Given the description of an element on the screen output the (x, y) to click on. 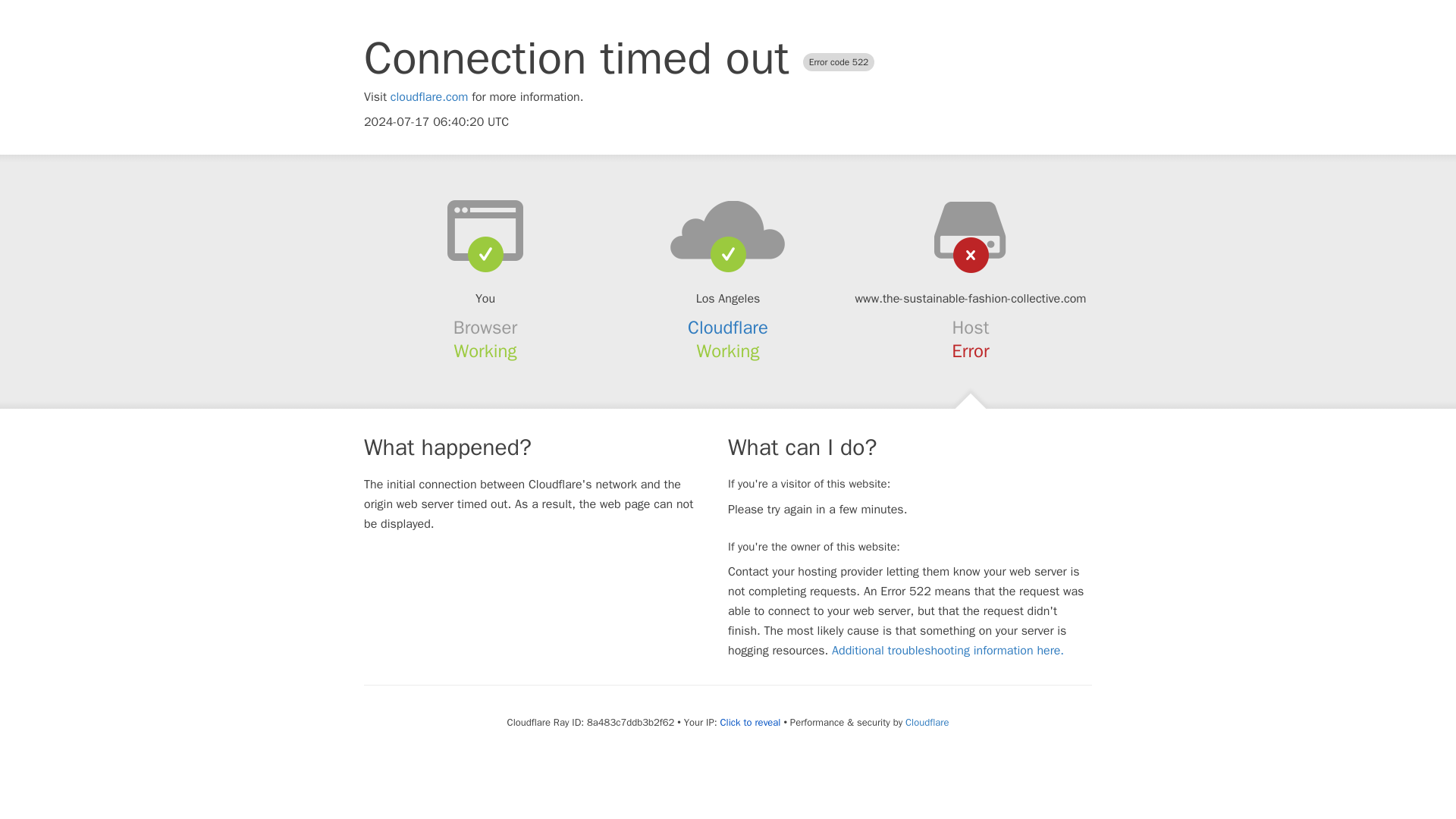
Click to reveal (750, 722)
cloudflare.com (429, 96)
Additional troubleshooting information here. (947, 650)
Cloudflare (927, 721)
Cloudflare (727, 327)
